Given the description of an element on the screen output the (x, y) to click on. 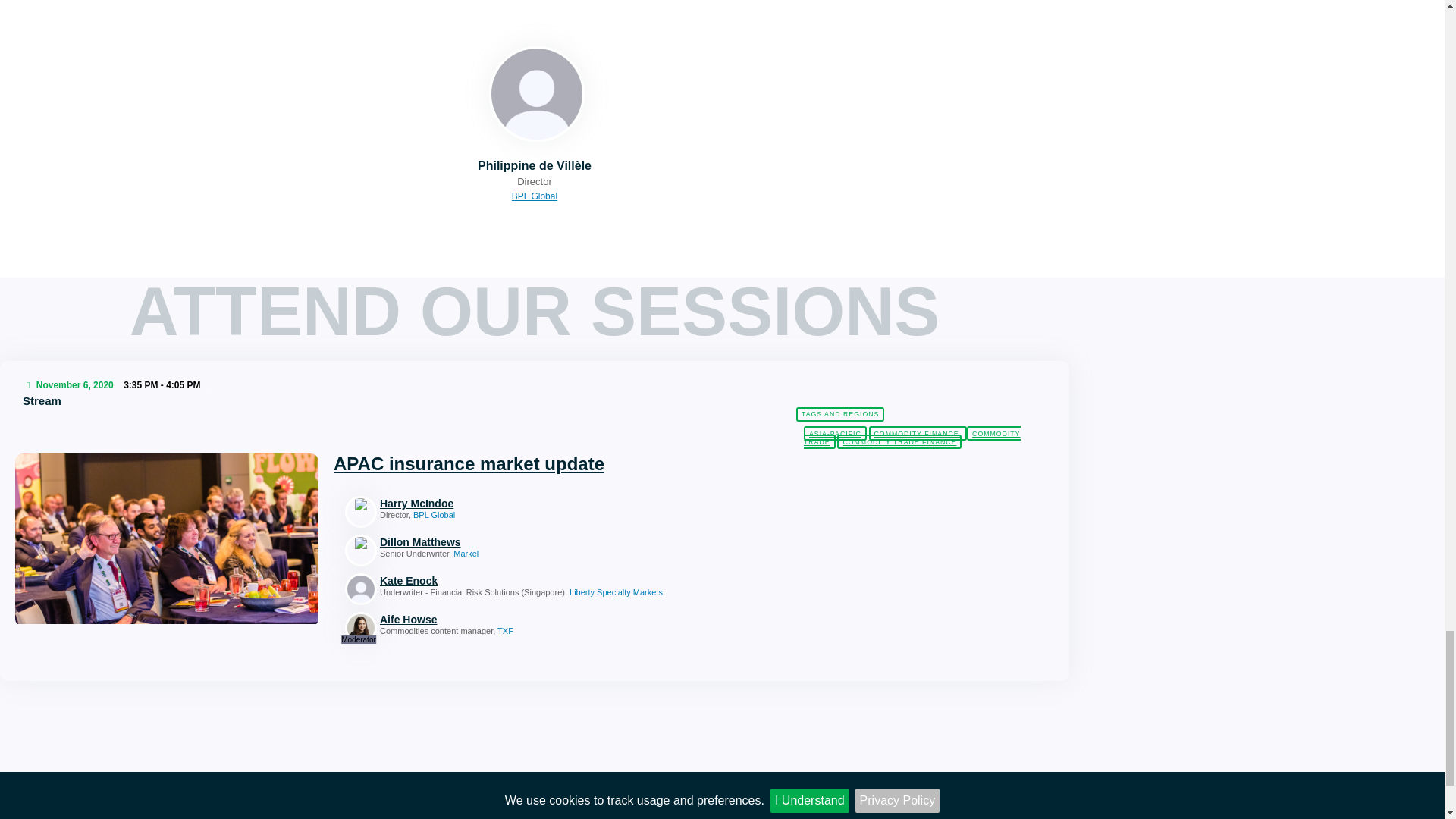
COMMODITY TRADE (911, 436)
APAC insurance market update (468, 463)
BPL Global (534, 0)
Dillon Matthews (532, 542)
Harry McIndoe (532, 502)
Aife Howse (532, 619)
COMMODITY FINANCE (918, 432)
BPL Global (534, 195)
ASIA-PACIFIC (834, 432)
Kate Enock (532, 580)
TAGS AND REGIONS (839, 414)
COMMODITY TRADE FINANCE (898, 441)
